Given the description of an element on the screen output the (x, y) to click on. 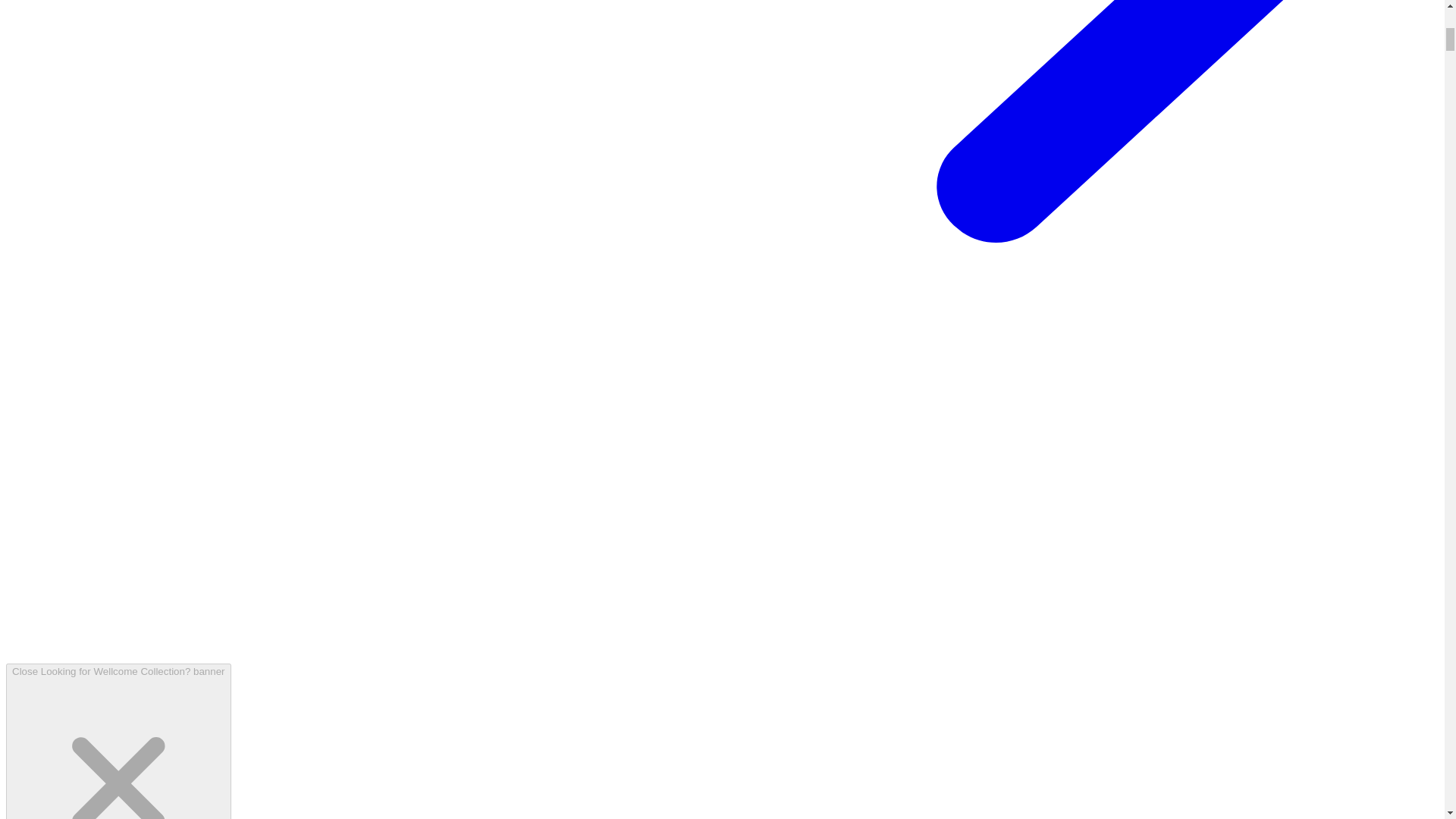
Close Looking for Wellcome Collection? banner (118, 741)
